Given the description of an element on the screen output the (x, y) to click on. 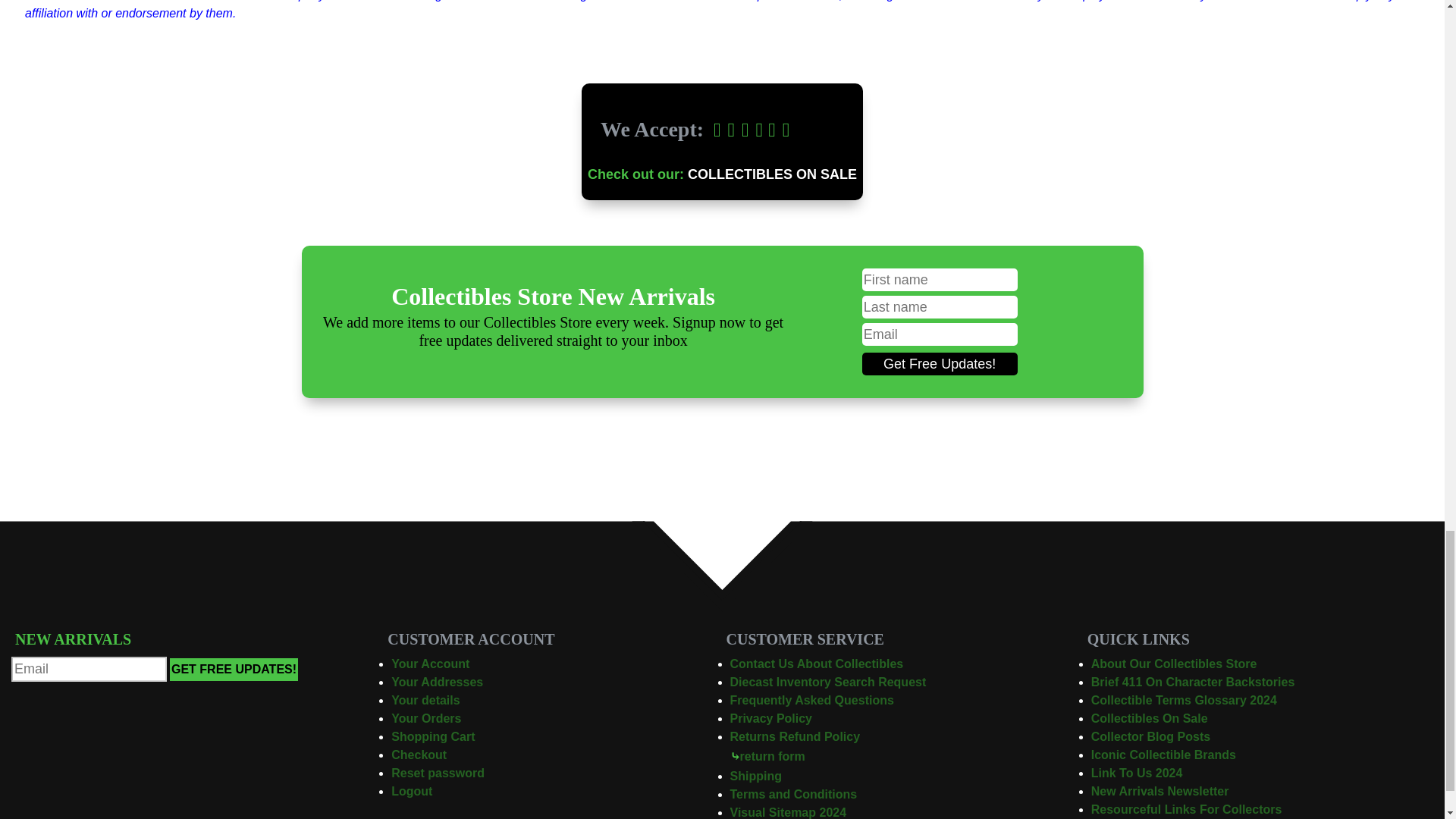
GET FREE UPDATES! (234, 669)
Get Free Updates! (939, 363)
